Given the description of an element on the screen output the (x, y) to click on. 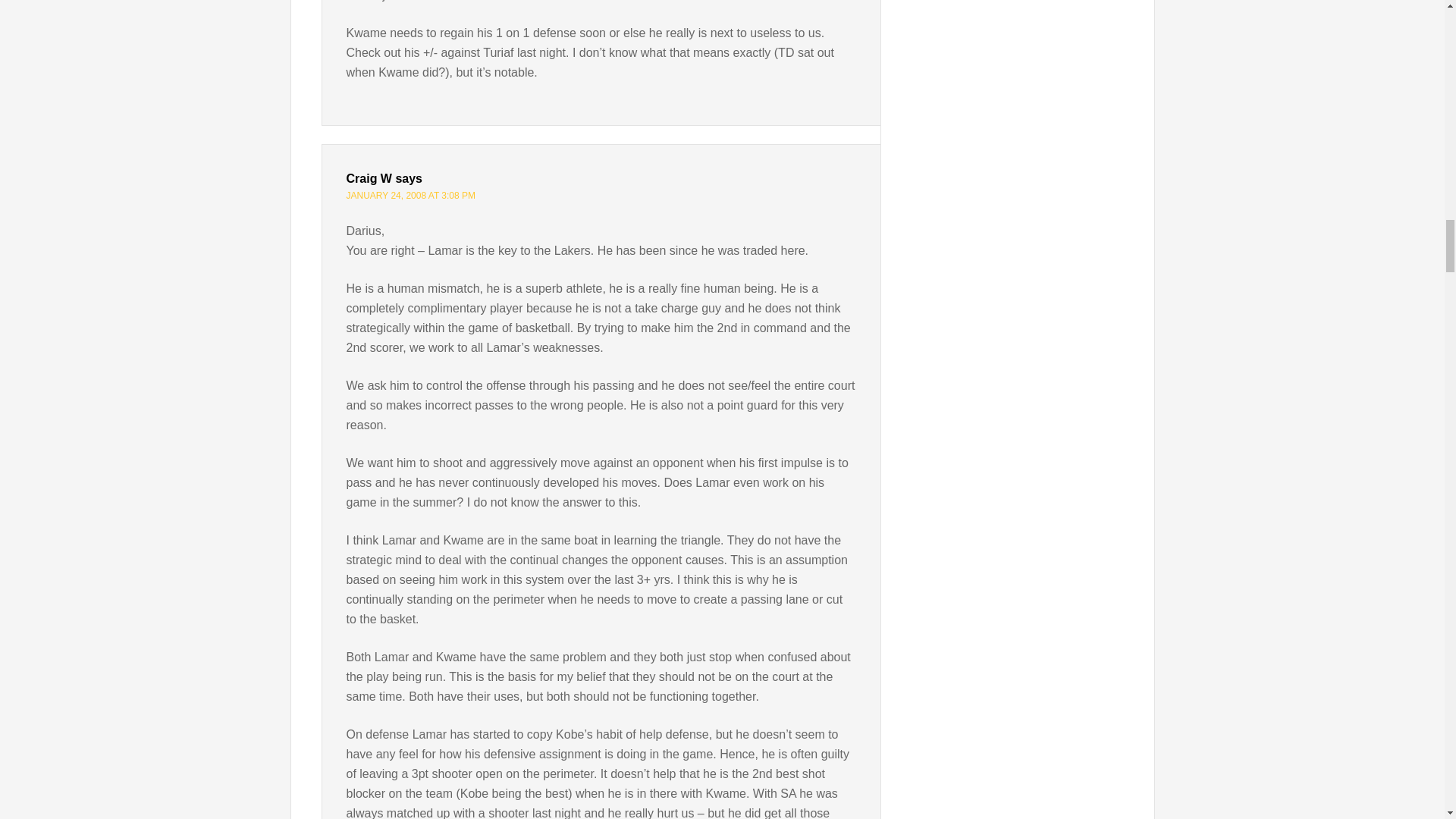
JANUARY 24, 2008 AT 3:08 PM (411, 195)
